Given the description of an element on the screen output the (x, y) to click on. 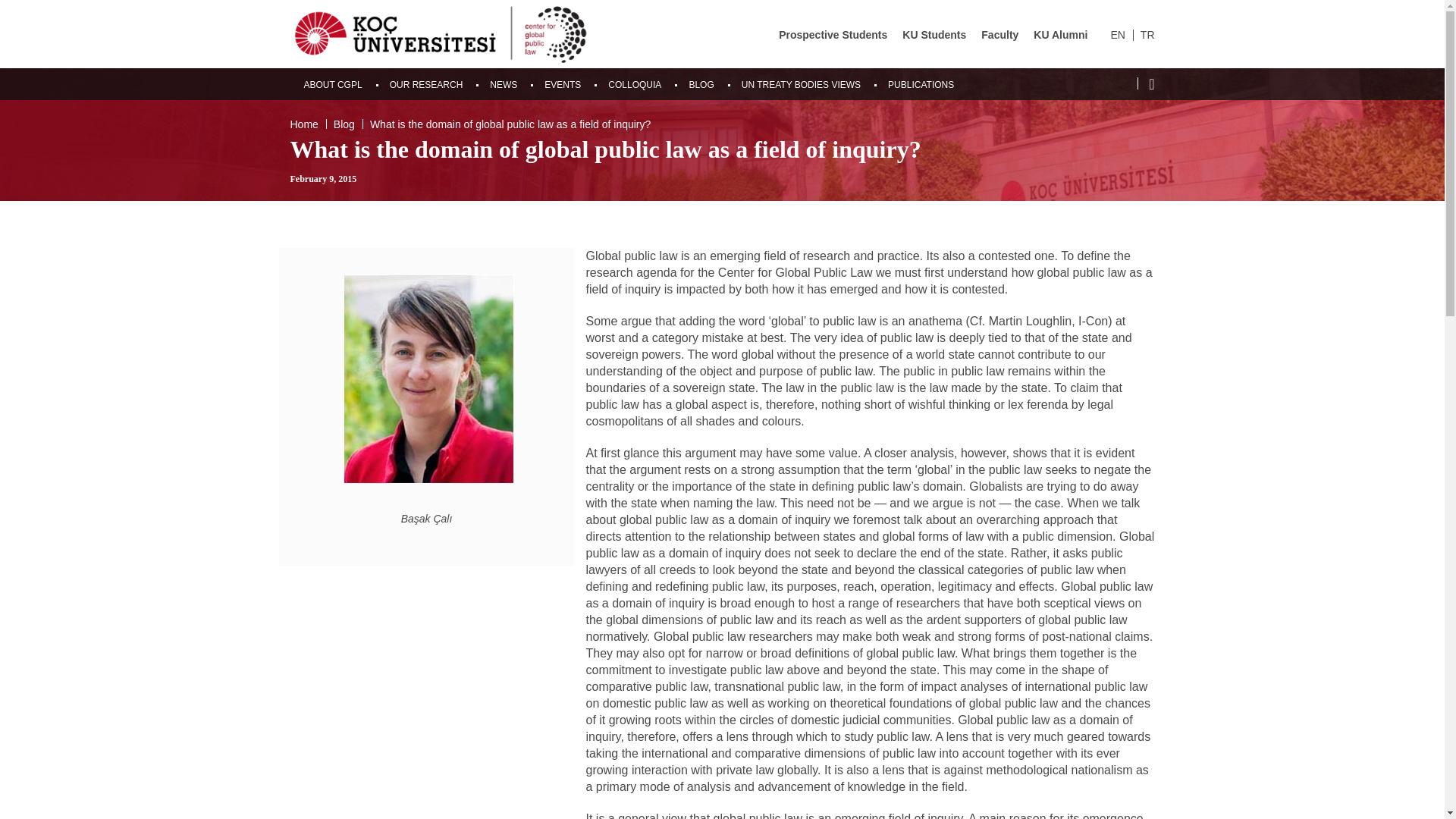
NEWS (502, 84)
ABOUT CGPL (331, 84)
KU Students (934, 34)
EVENTS (562, 84)
TR (1147, 34)
EN (1116, 34)
Faculty (999, 34)
COLLOQUIA (634, 84)
Prospective Students (832, 34)
BLOG (700, 84)
